Given the description of an element on the screen output the (x, y) to click on. 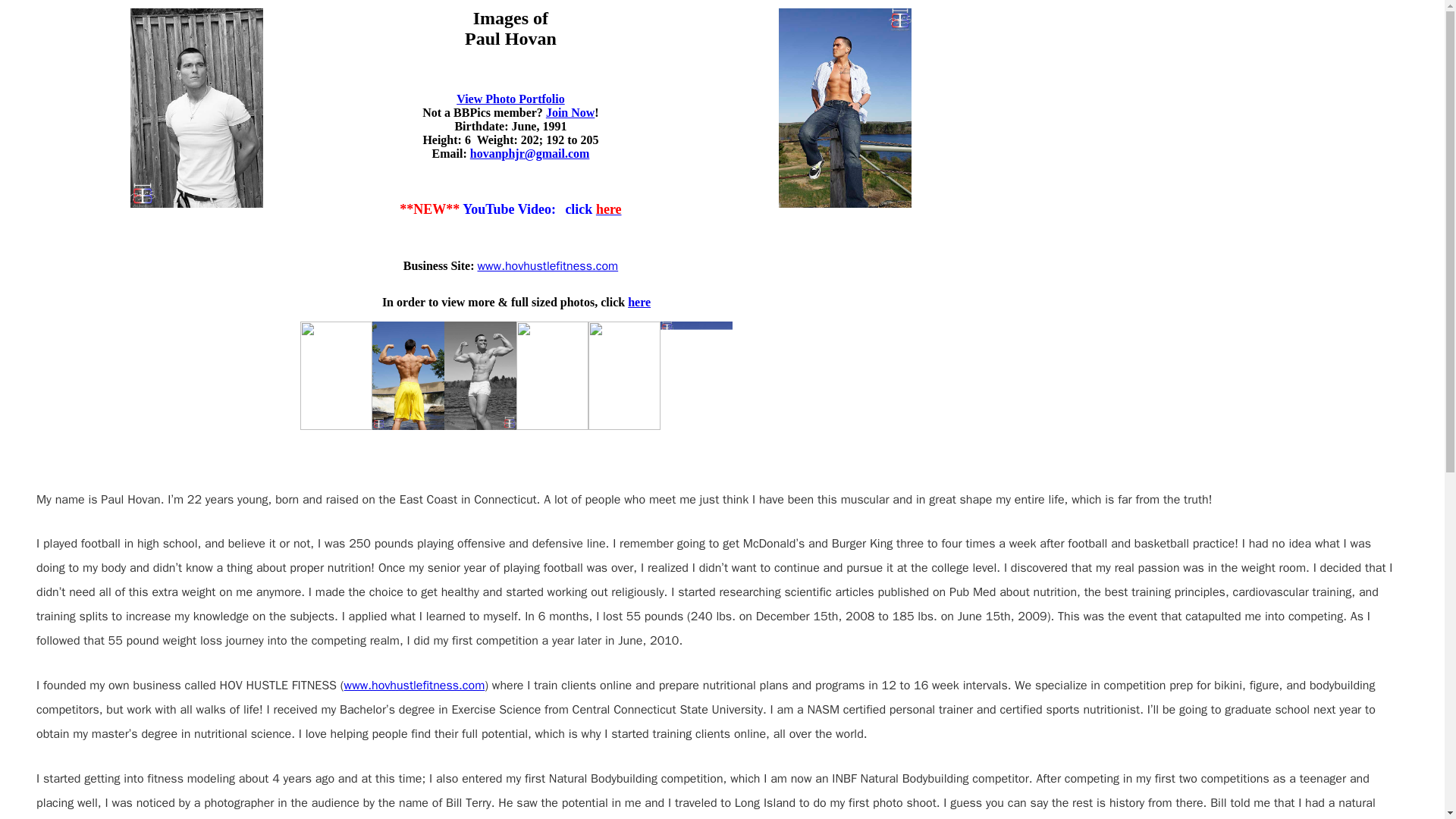
www.hovhustlefitness.com (413, 684)
Join Now (570, 112)
View Photo Portfolio (510, 105)
www.hovhustlefitness.com (547, 265)
here (638, 301)
here (608, 209)
